Given the description of an element on the screen output the (x, y) to click on. 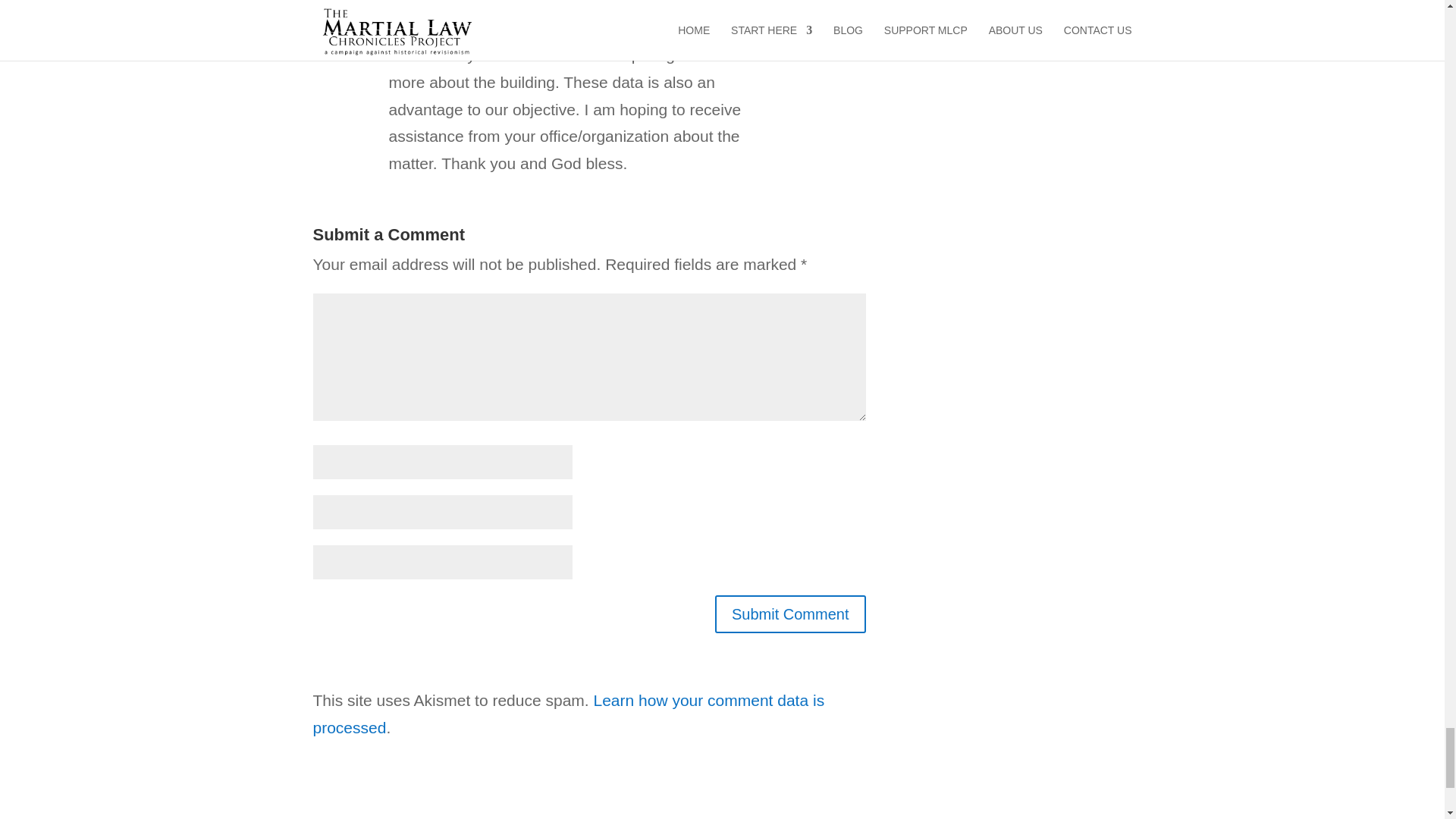
Submit Comment (790, 614)
Submit Comment (790, 614)
Learn how your comment data is processed (568, 713)
